Given the description of an element on the screen output the (x, y) to click on. 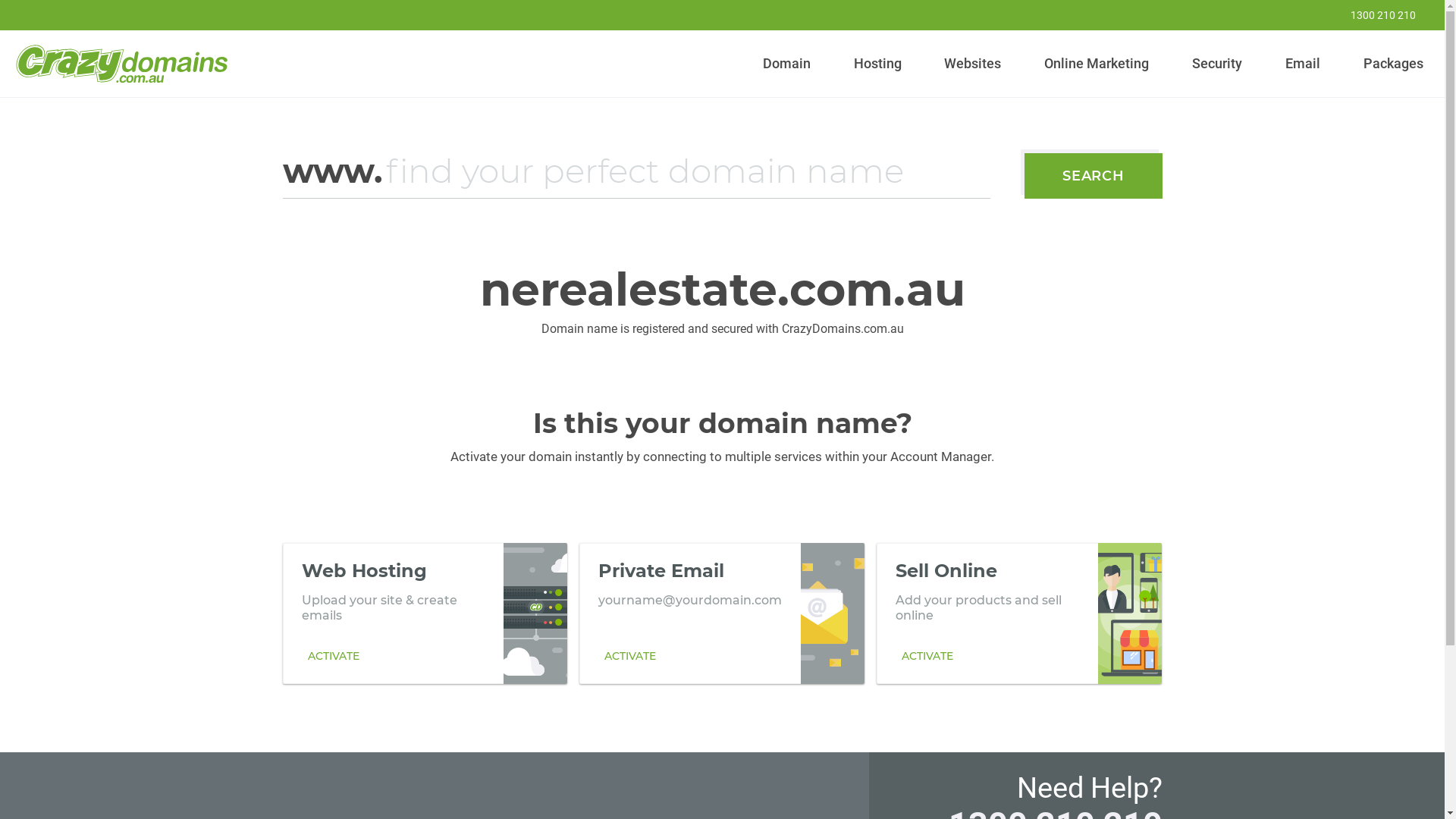
Security Element type: text (1217, 63)
Online Marketing Element type: text (1096, 63)
1300 210 210 Element type: text (1373, 15)
Private Email
yourname@yourdomain.com
ACTIVATE Element type: text (721, 613)
Email Element type: text (1302, 63)
Packages Element type: text (1392, 63)
Sell Online
Add your products and sell online
ACTIVATE Element type: text (1018, 613)
Domain Element type: text (786, 63)
Hosting Element type: text (877, 63)
SEARCH Element type: text (1092, 175)
Web Hosting
Upload your site & create emails
ACTIVATE Element type: text (424, 613)
Websites Element type: text (972, 63)
